Given the description of an element on the screen output the (x, y) to click on. 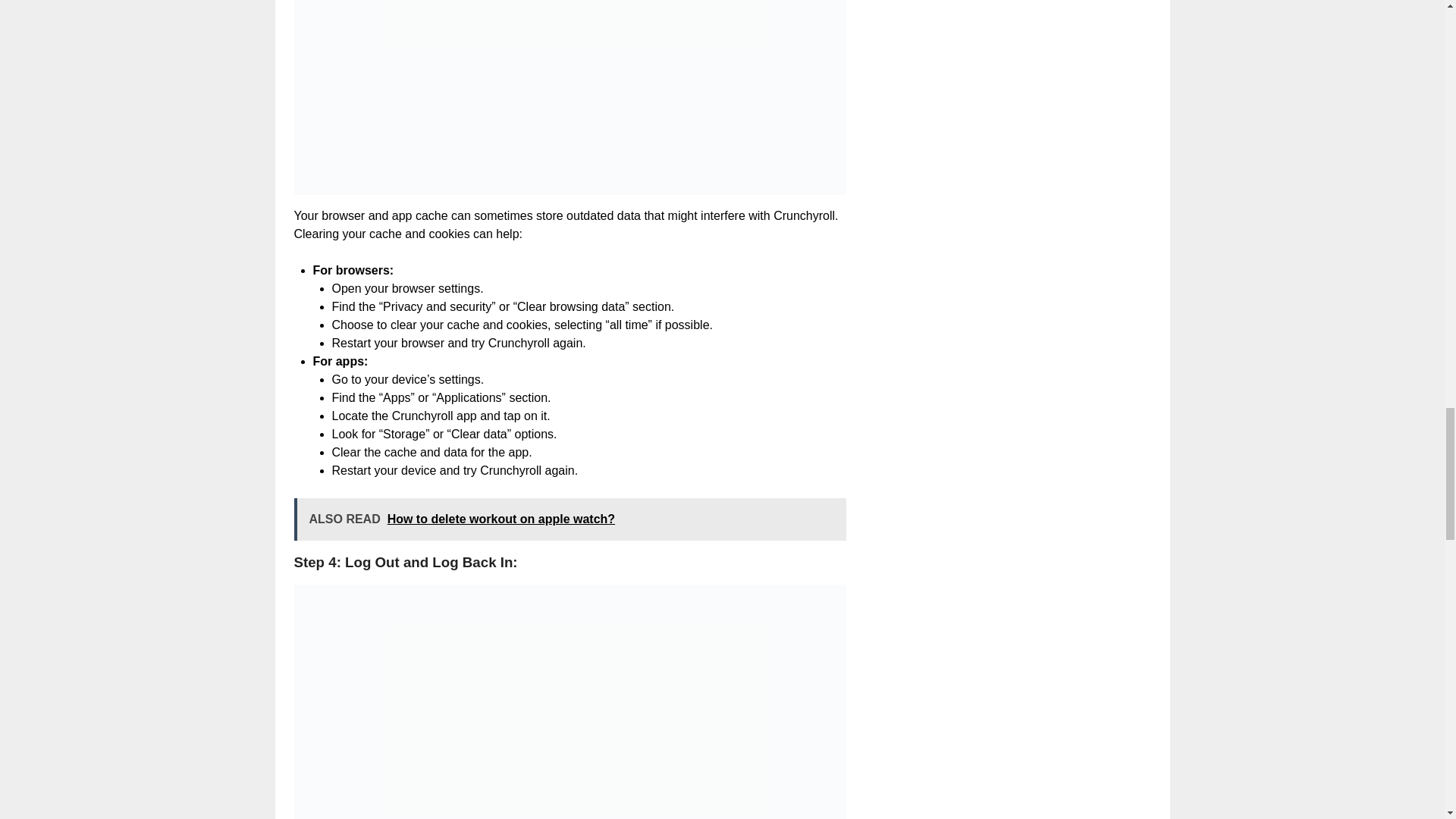
ALSO READ  How to delete workout on apple watch? (570, 518)
